Given the description of an element on the screen output the (x, y) to click on. 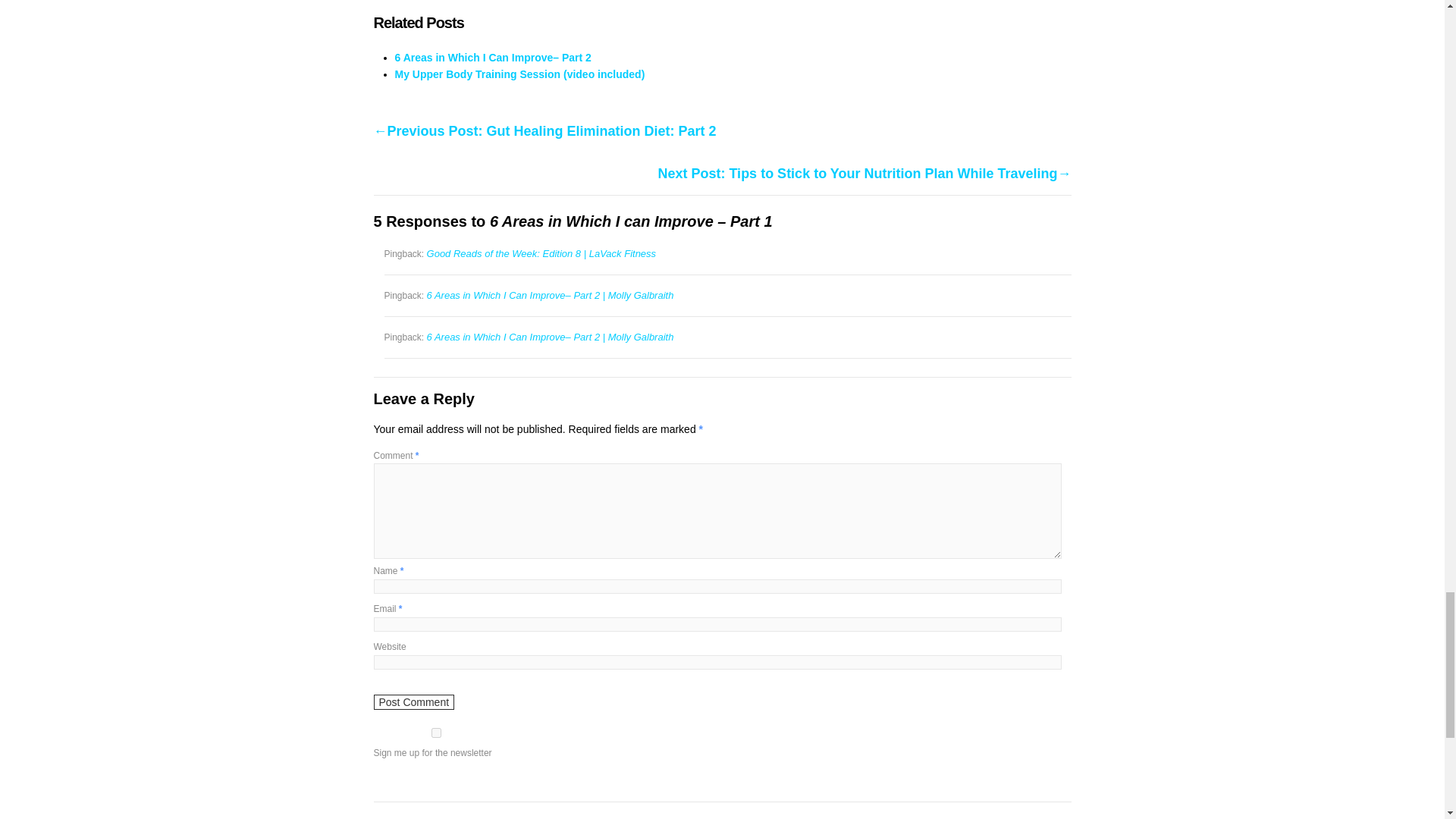
1 (435, 732)
Post Comment (413, 702)
